Given the description of an element on the screen output the (x, y) to click on. 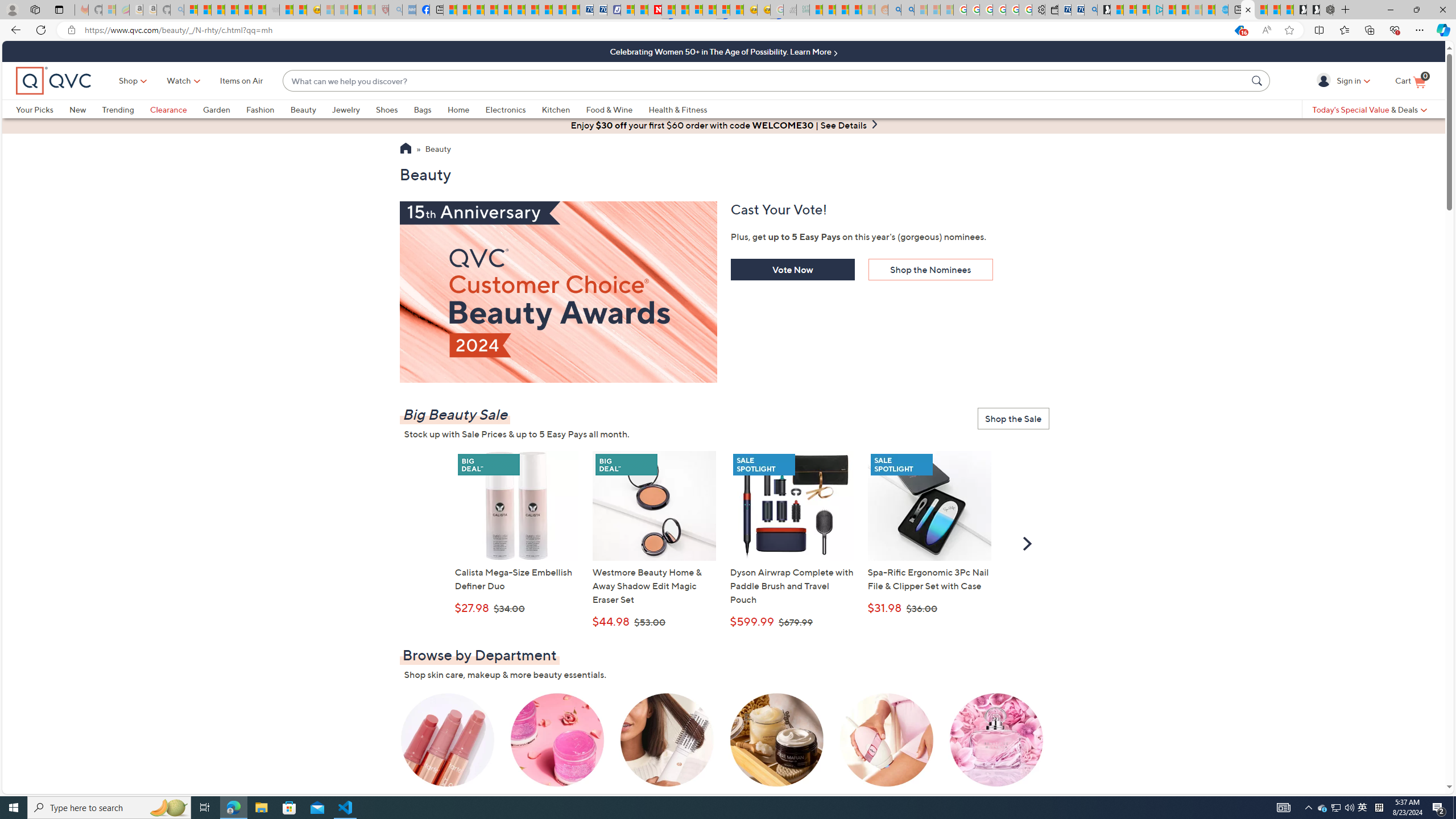
Microsoft Start - Sleeping (1195, 9)
Nordace - Nordace Siena Is Not An Ordinary Backpack (1326, 9)
Trending (117, 109)
14 Common Myths Debunked By Scientific Facts (682, 9)
Microsoft Start Gaming (1103, 9)
Play Free Online Games | Games from Microsoft Start (1312, 9)
